Given the description of an element on the screen output the (x, y) to click on. 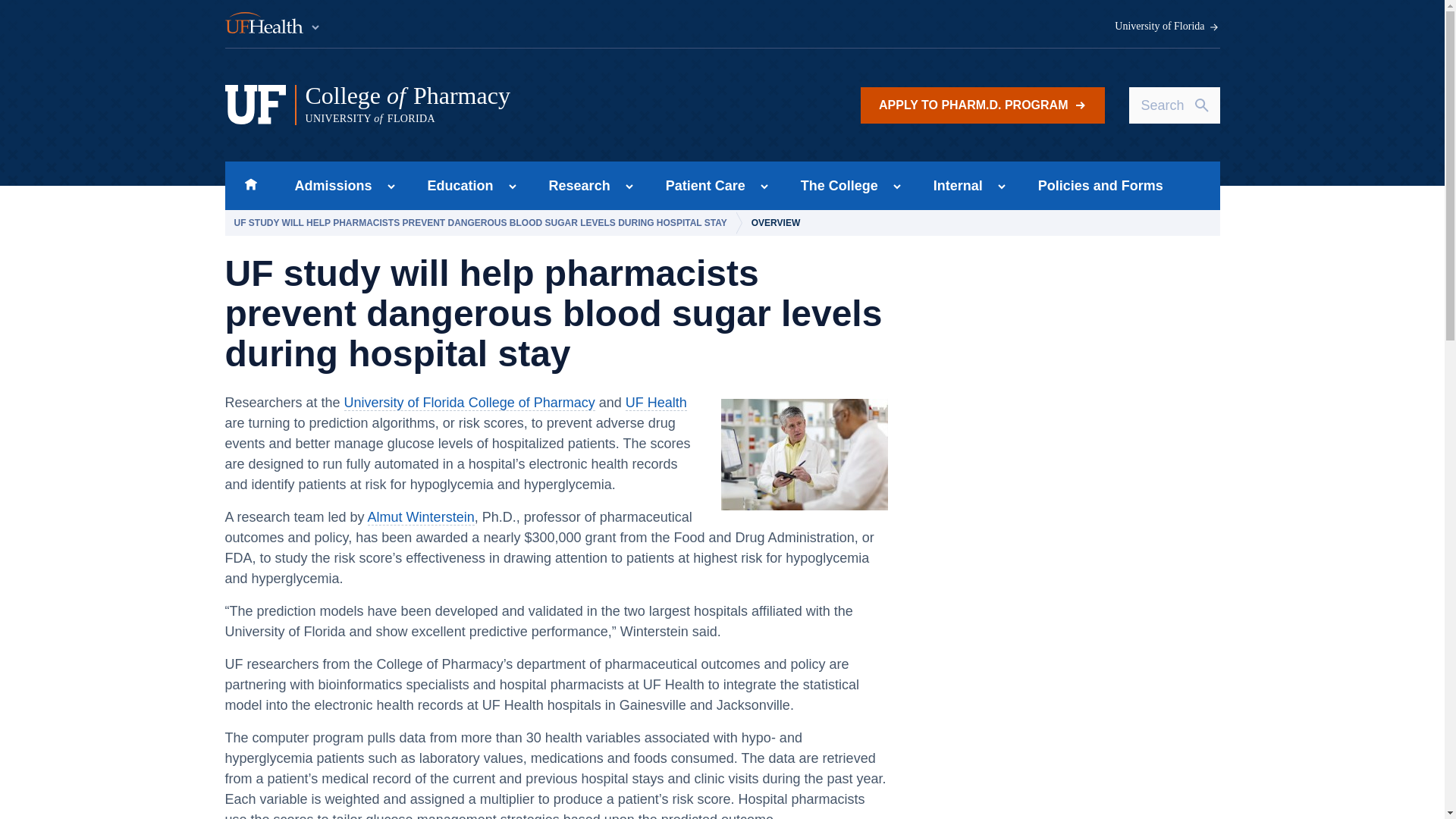
Research (575, 185)
Home (250, 185)
Education (455, 185)
Admissions (328, 185)
University of Florida (1167, 26)
UF Health (515, 105)
